Given the description of an element on the screen output the (x, y) to click on. 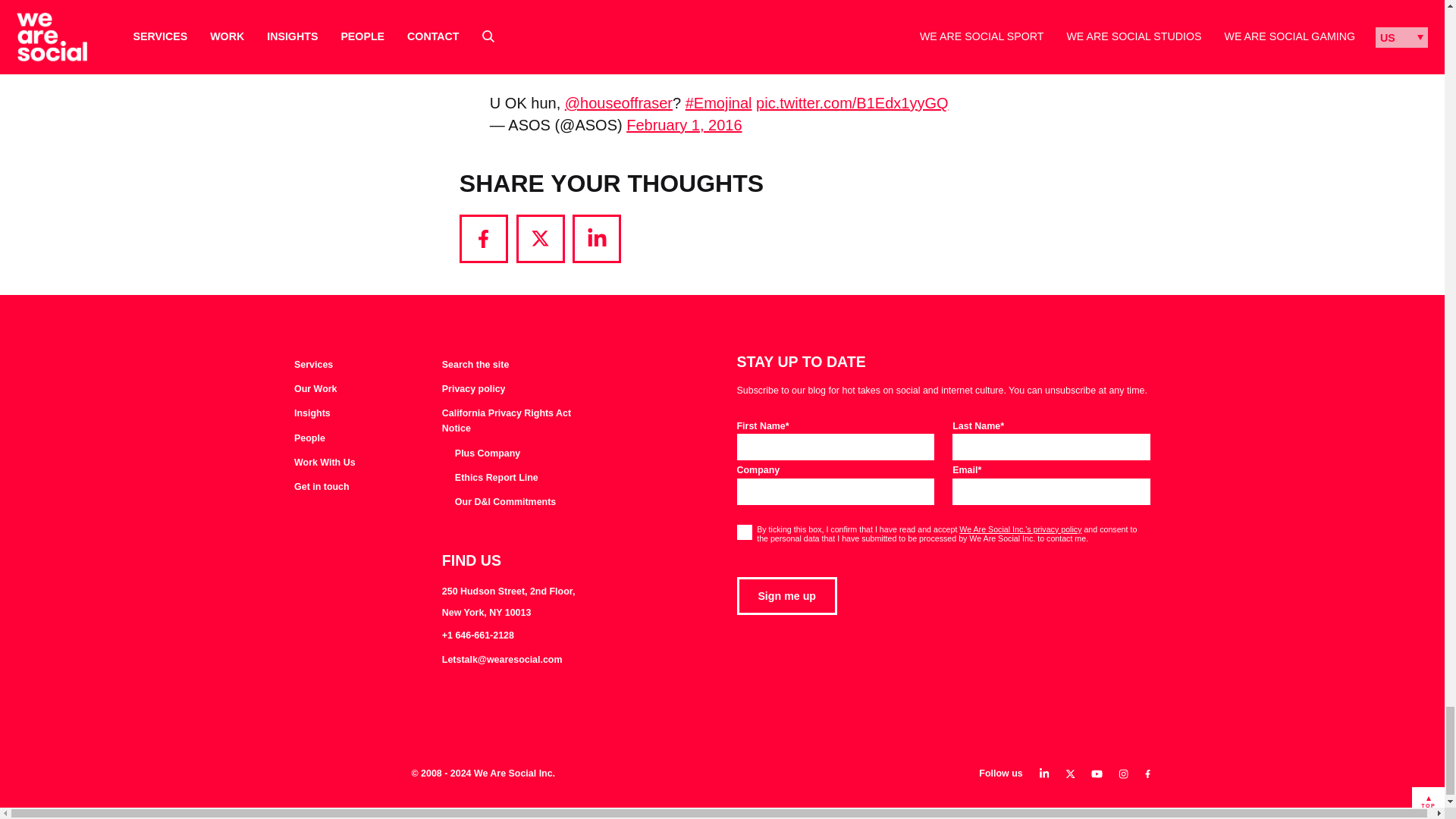
Get in Touch (321, 487)
Share via LinkedIn (596, 238)
Share via Facebook (484, 238)
Services (313, 365)
Search the site (475, 365)
Work (315, 389)
About (309, 438)
Share via Twitter (540, 238)
Insights (312, 413)
